Given the description of an element on the screen output the (x, y) to click on. 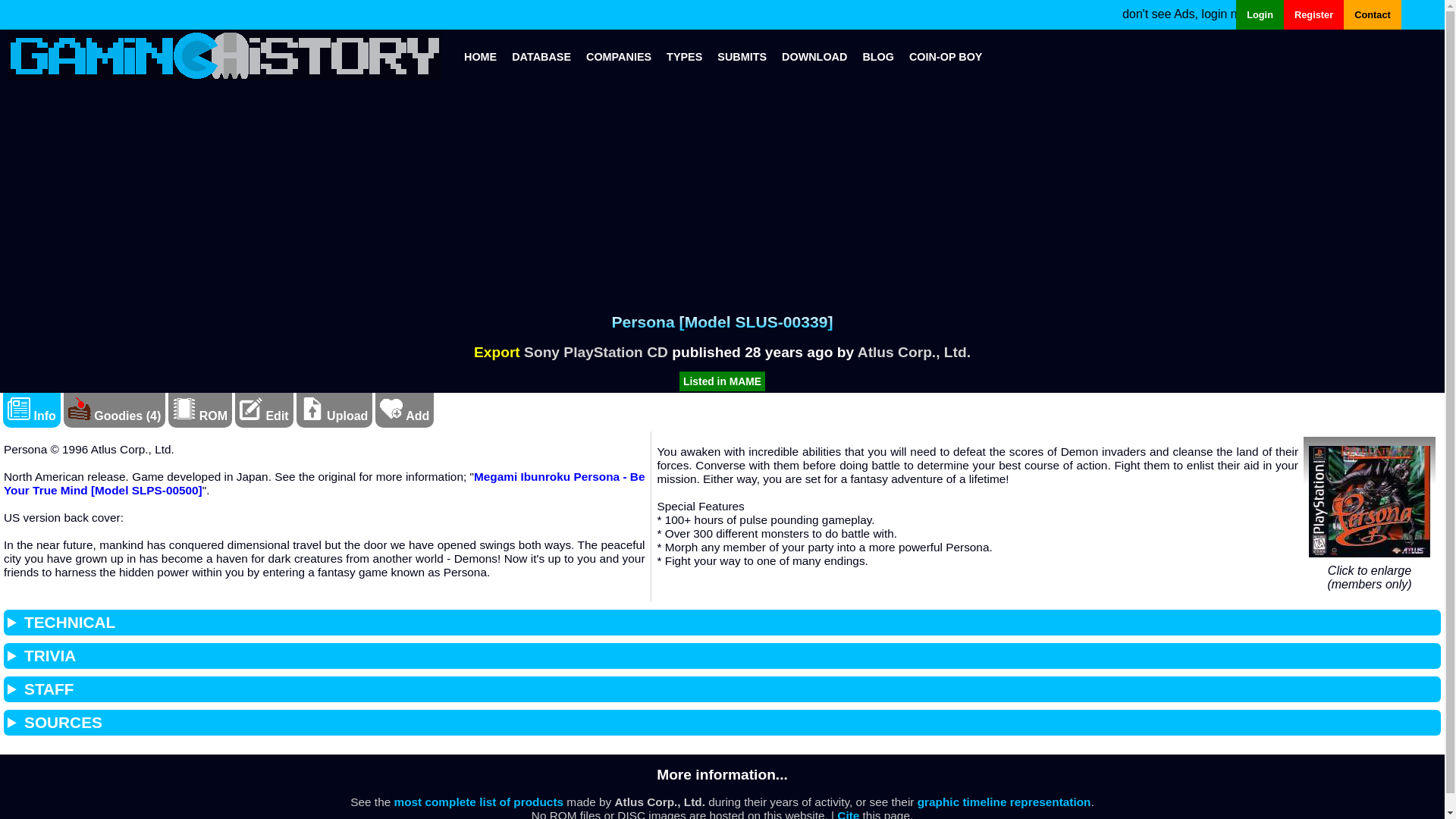
DATABASE (540, 55)
ROM (200, 415)
information for this product (18, 408)
Upload (334, 415)
Edit (264, 415)
edit the information (251, 408)
ROM (184, 408)
Info (31, 415)
Return to the Mainpage (480, 55)
Play our Video Game (945, 55)
Browse our Database (540, 55)
Cite (848, 814)
Contact (1371, 14)
graphic timeline representation (1003, 801)
